Given the description of an element on the screen output the (x, y) to click on. 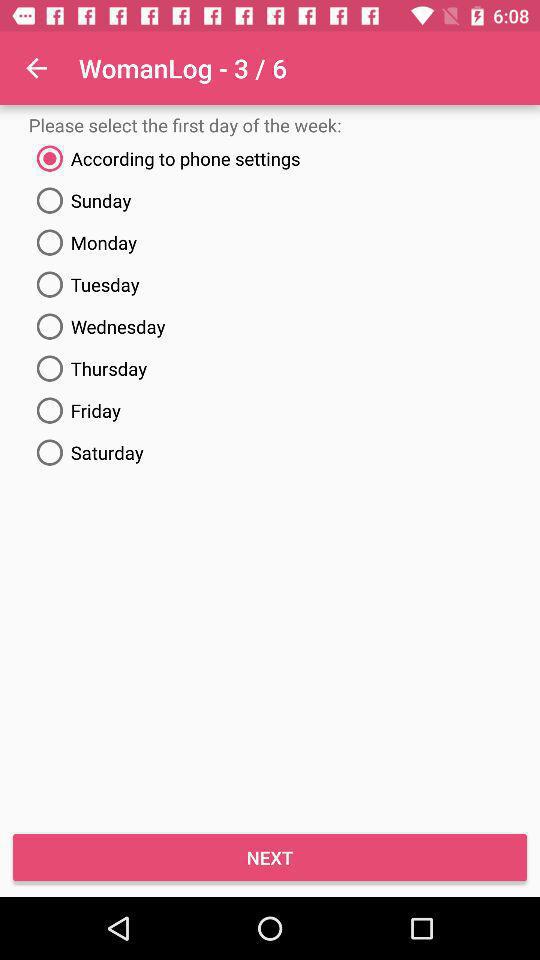
select the icon below sunday (269, 242)
